Given the description of an element on the screen output the (x, y) to click on. 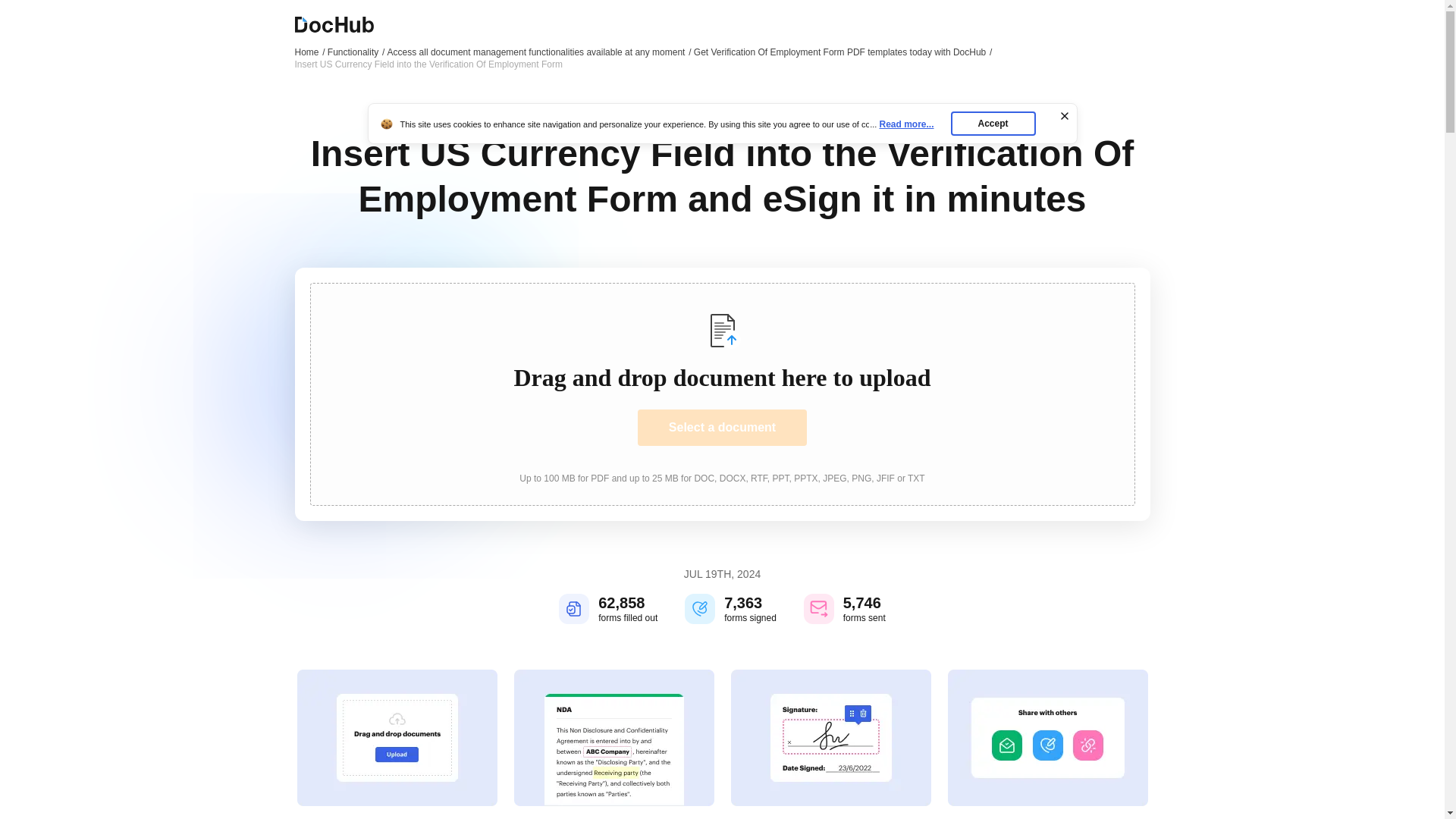
Select a document (721, 427)
Functionality (355, 51)
Home (309, 51)
